Given the description of an element on the screen output the (x, y) to click on. 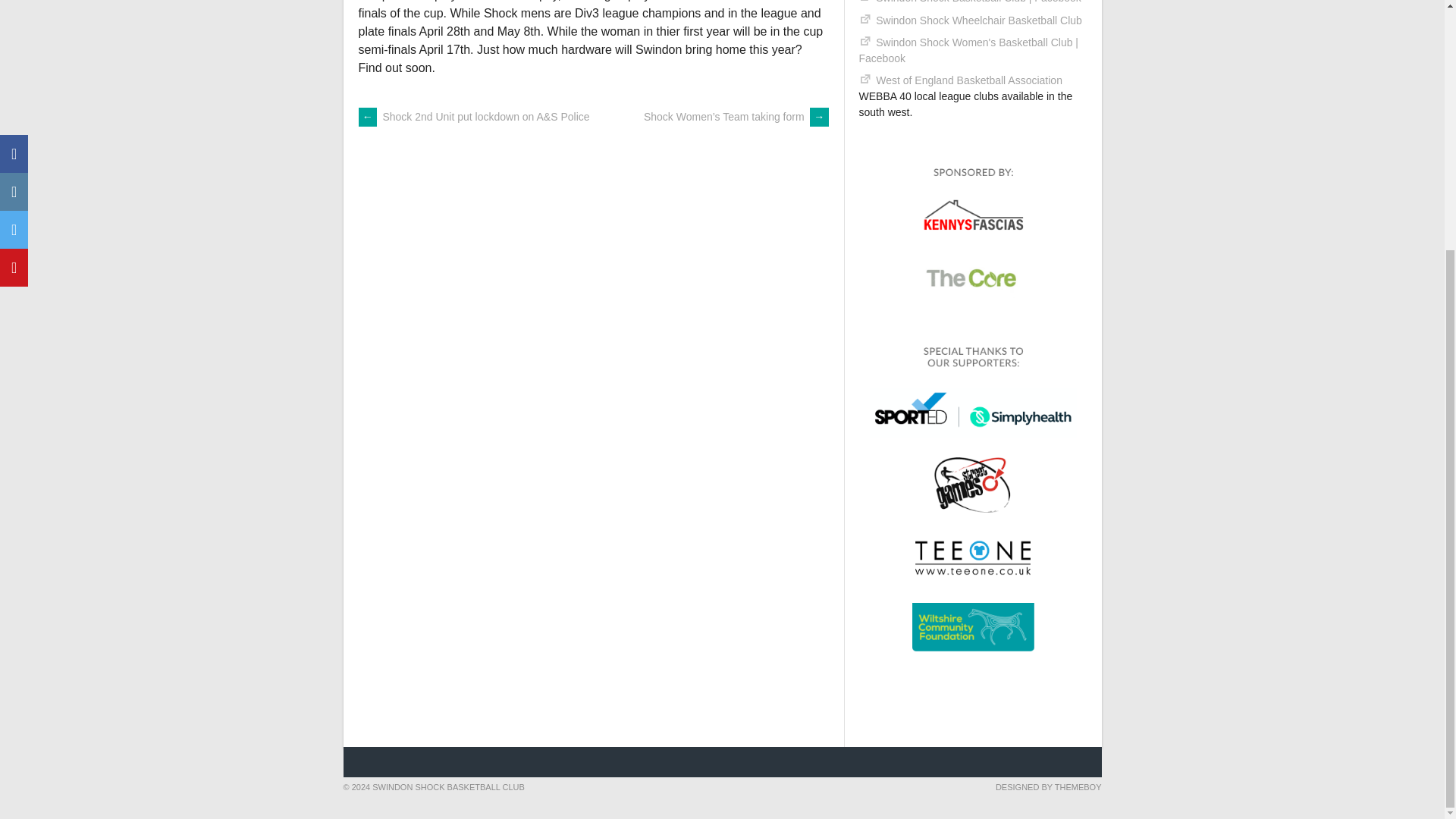
West of England Basketball Association (969, 80)
Swindon Shock Wheelchair Basketball Club (978, 20)
DESIGNED BY THEMEBOY (1048, 786)
WEBBA 40 local league clubs available in the south west. (969, 80)
